Given the description of an element on the screen output the (x, y) to click on. 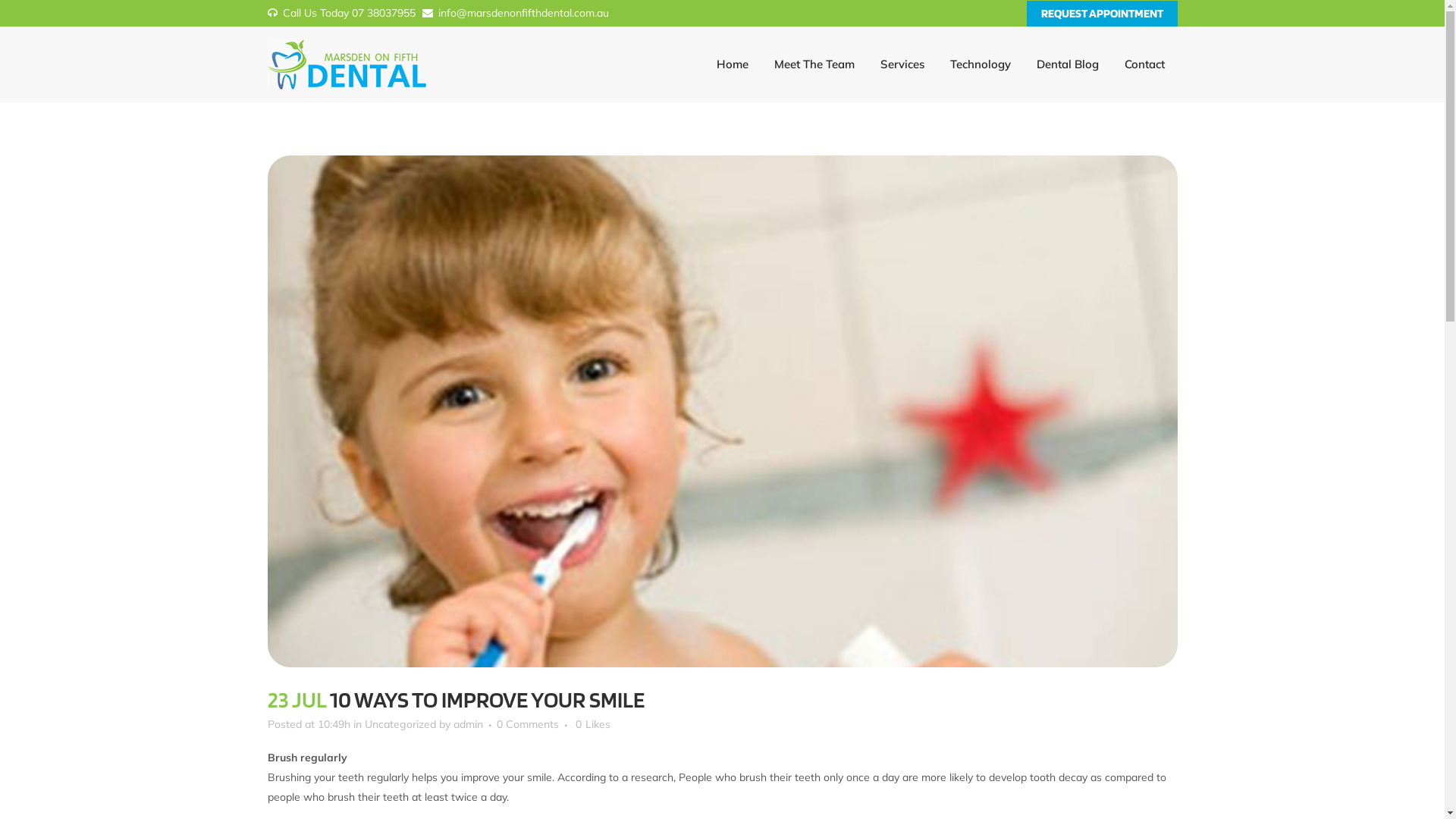
REQUEST APPOINTMENT Element type: text (1101, 13)
admin Element type: text (468, 724)
0 Likes Element type: text (591, 723)
Technology Element type: text (980, 64)
Uncategorized Element type: text (399, 724)
info@marsdenonfifthdental.com.au Element type: text (514, 12)
Services Element type: text (902, 64)
Dental Blog Element type: text (1067, 64)
0 Comments Element type: text (526, 724)
Call Us Today 07 38037955 Element type: text (340, 12)
Home Element type: text (732, 64)
Meet The Team Element type: text (814, 64)
Contact Element type: text (1144, 64)
